Given the description of an element on the screen output the (x, y) to click on. 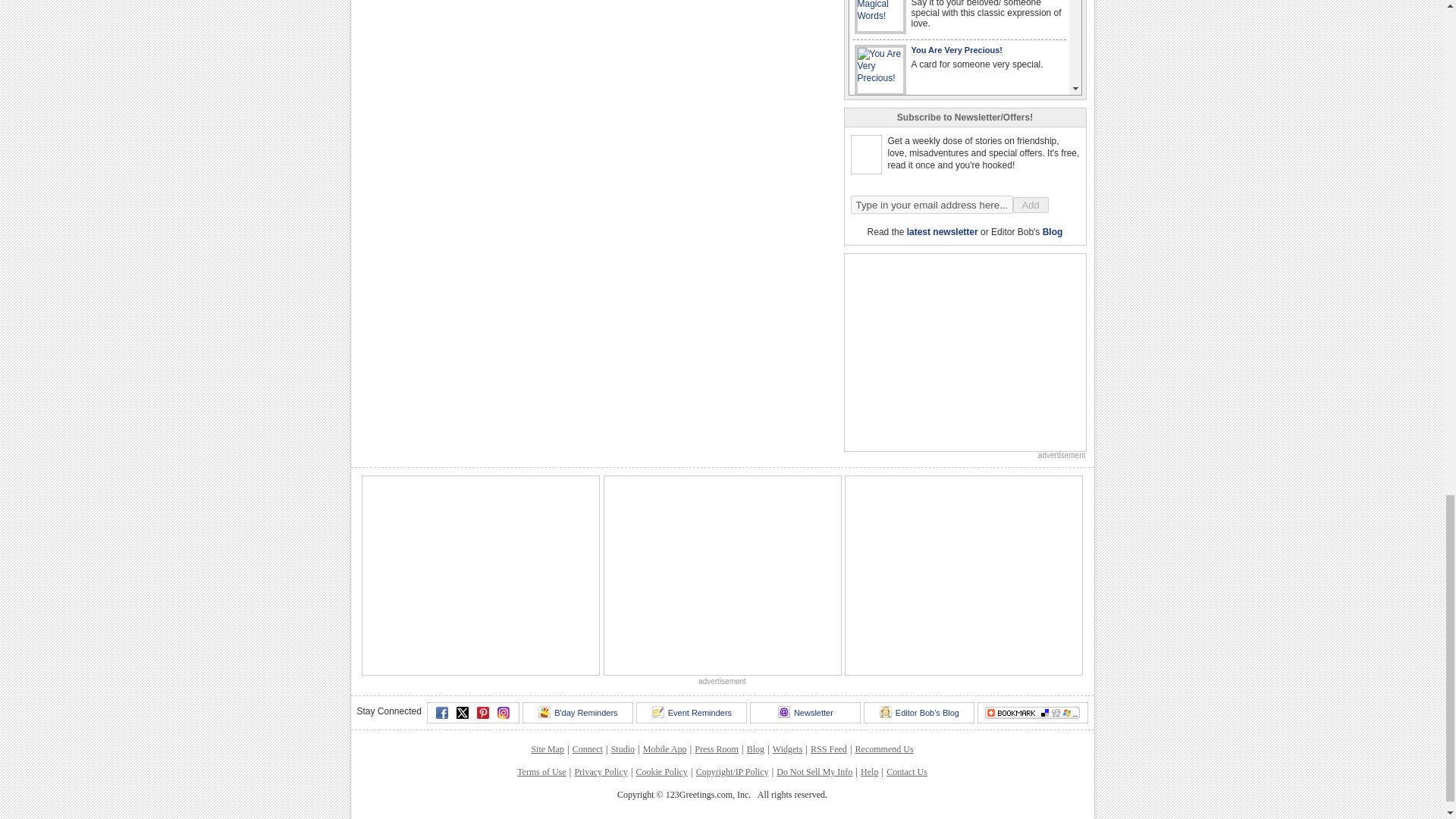
Type in your email address here... (931, 204)
